Given the description of an element on the screen output the (x, y) to click on. 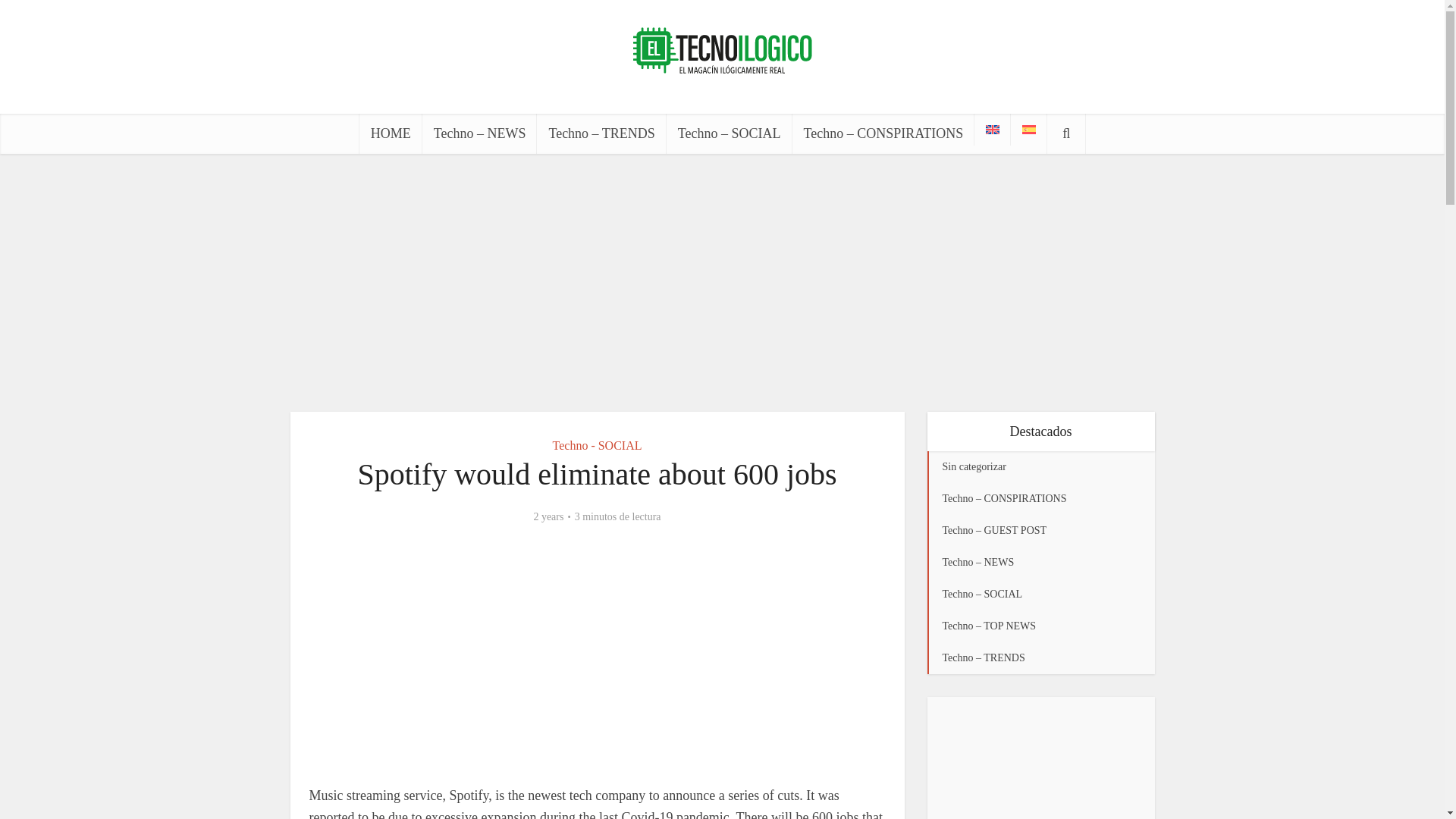
Advertisement (721, 282)
Techno - SOCIAL (597, 444)
HOME (390, 133)
Advertisement (597, 655)
Advertisement (1040, 765)
